Given the description of an element on the screen output the (x, y) to click on. 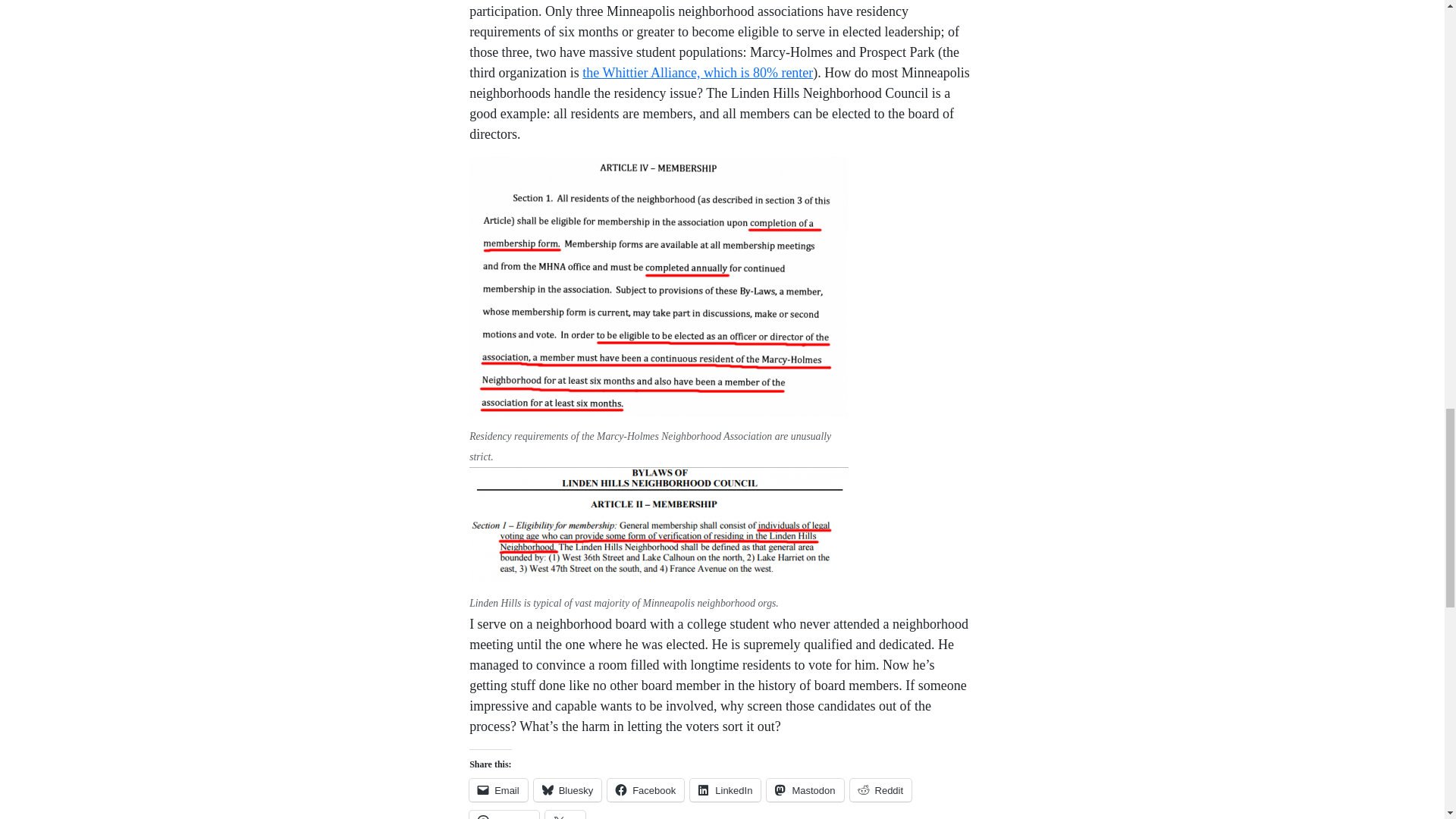
Facebook (645, 789)
Reddit (881, 789)
Bluesky (568, 789)
Click to share on LinkedIn (725, 789)
Click to share on Threads (503, 814)
Click to share on Reddit (881, 789)
Threads (503, 814)
Click to share on Bluesky (568, 789)
Mastodon (805, 789)
X (564, 814)
Click to share on X (564, 814)
Click to share on Mastodon (805, 789)
Click to share on Facebook (645, 789)
Click to email a link to a friend (497, 789)
Email (497, 789)
